Given the description of an element on the screen output the (x, y) to click on. 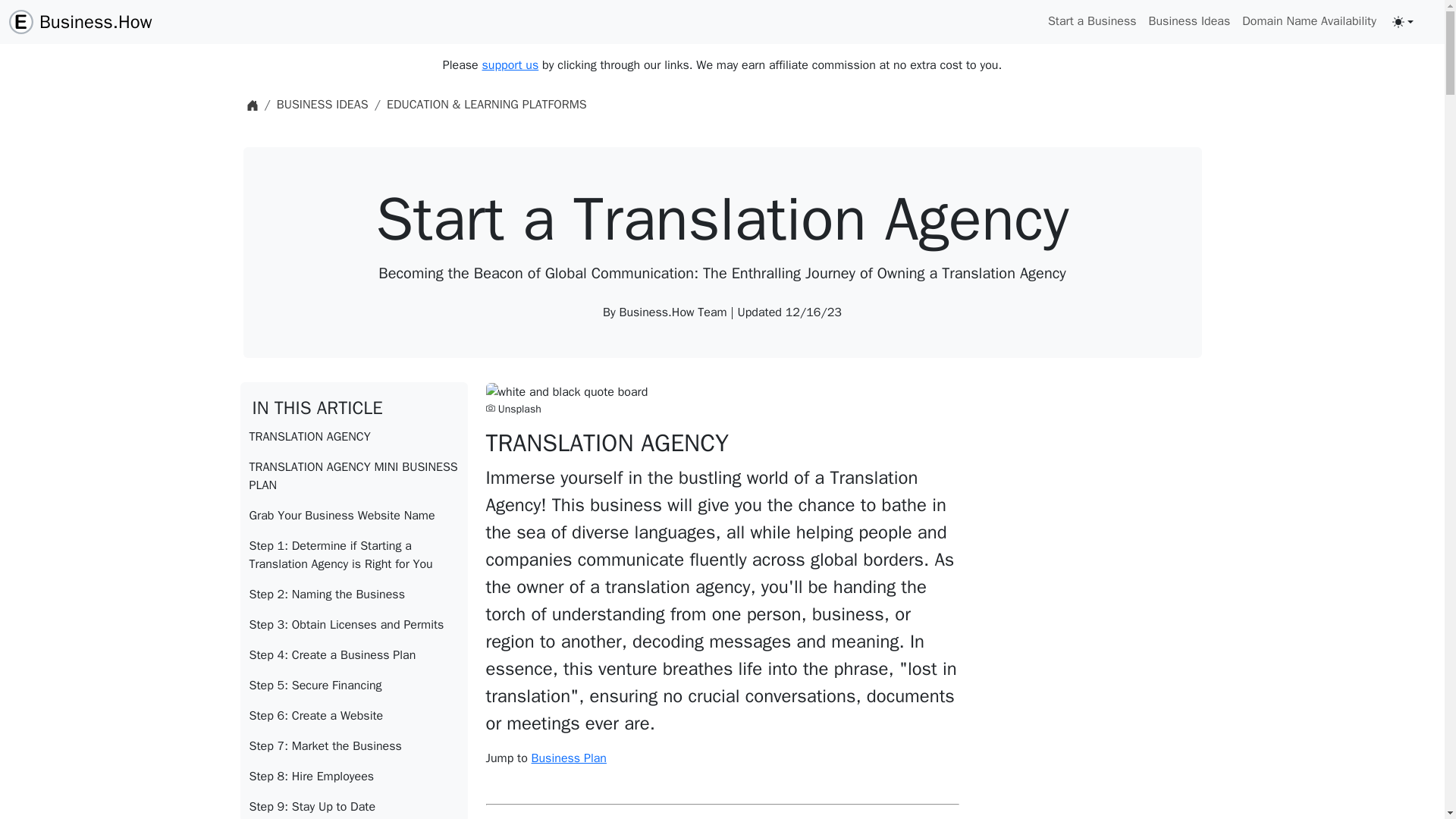
TRANSLATION AGENCY MINI BUSINESS PLAN (353, 476)
Step 5: Secure Financing (353, 685)
support us (509, 64)
Step 4: Create a Business Plan (353, 654)
Start a Business (1092, 20)
TRANSLATION AGENCY (353, 436)
Step 7: Market the Business (353, 746)
Business Plan (569, 758)
Step 3: Obtain Licenses and Permits (353, 624)
Step 9: Stay Up to Date (353, 805)
Step 6: Create a Website (353, 716)
Step 2: Naming the Business (353, 594)
Domain Name Availability (1308, 20)
Grab Your Business Website Name (353, 515)
